Given the description of an element on the screen output the (x, y) to click on. 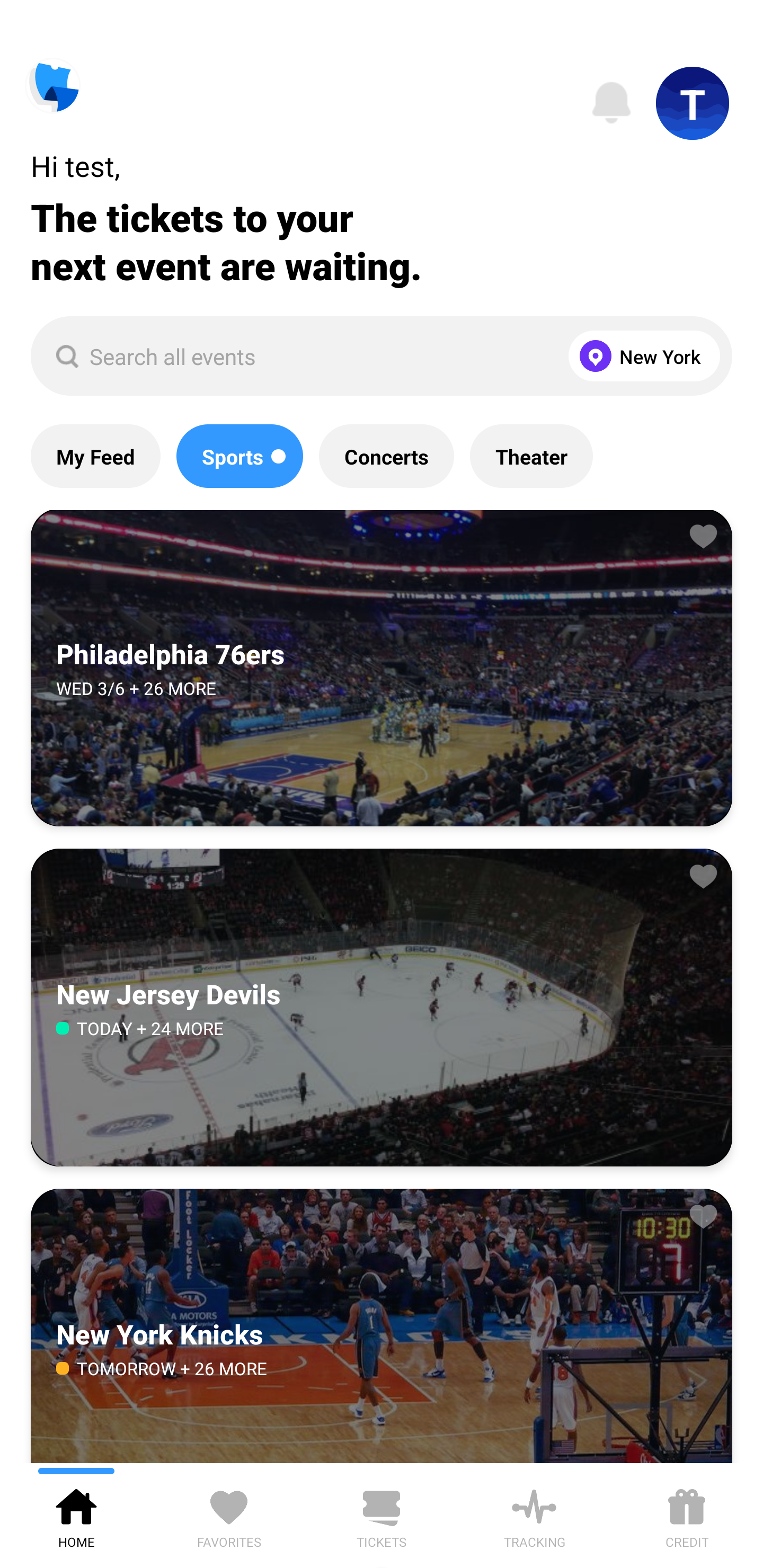
T (692, 103)
New York (640, 355)
My Feed (95, 455)
Sports (239, 455)
Concerts (385, 455)
Theater (531, 455)
HOME (76, 1515)
FAVORITES (228, 1515)
TICKETS (381, 1515)
TRACKING (533, 1515)
CREDIT (686, 1515)
